Given the description of an element on the screen output the (x, y) to click on. 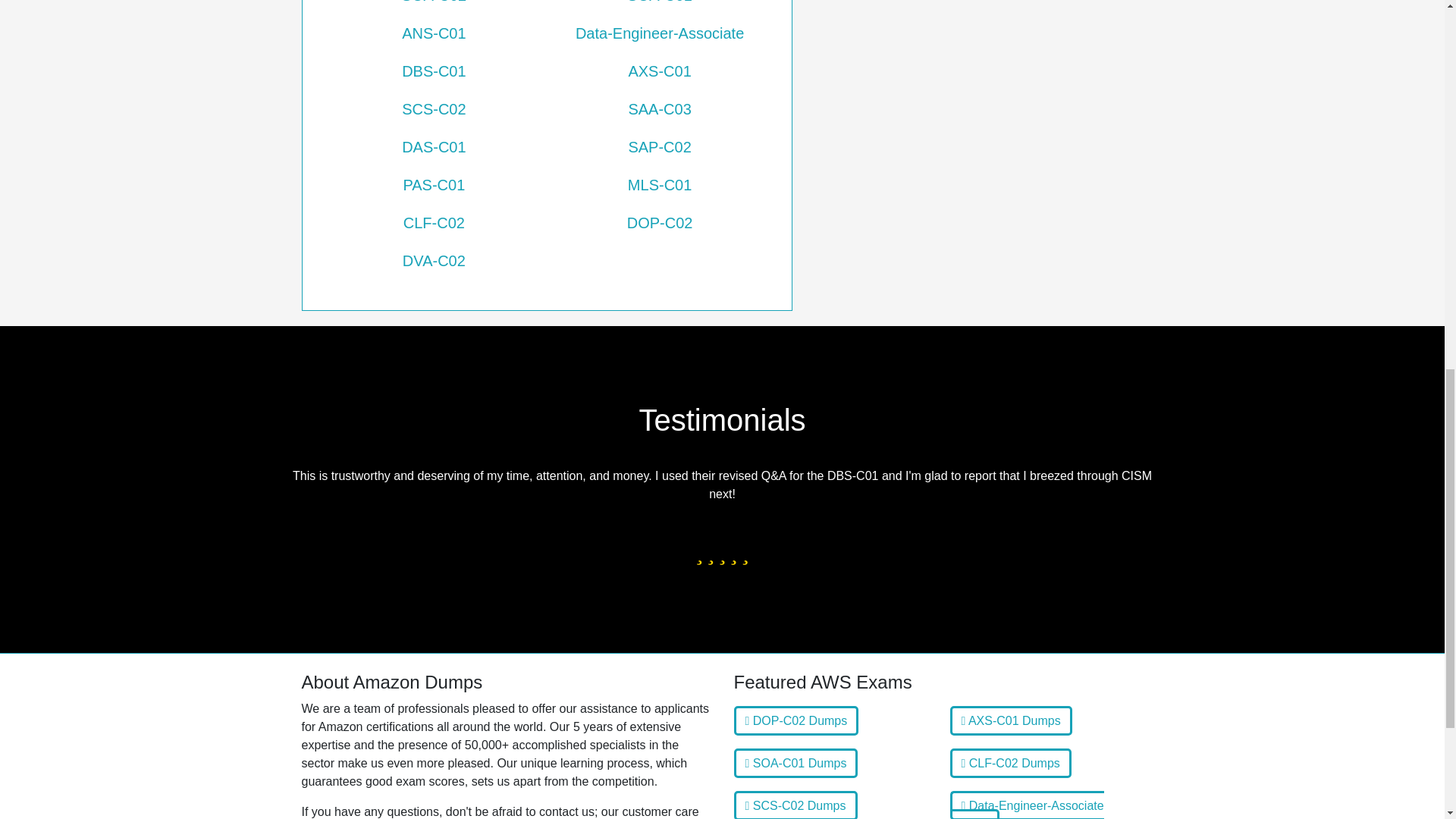
DVA-C02 (433, 260)
CLF-C02 Dumps (1009, 763)
SOA-C02 (433, 7)
AXS-C01 (659, 71)
SAA-C03 (659, 108)
SCS-C02 Dumps (795, 805)
PAS-C01 (433, 184)
MLS-C01 (659, 184)
DOP-C02 (659, 222)
SAP-C02 (659, 146)
